Given the description of an element on the screen output the (x, y) to click on. 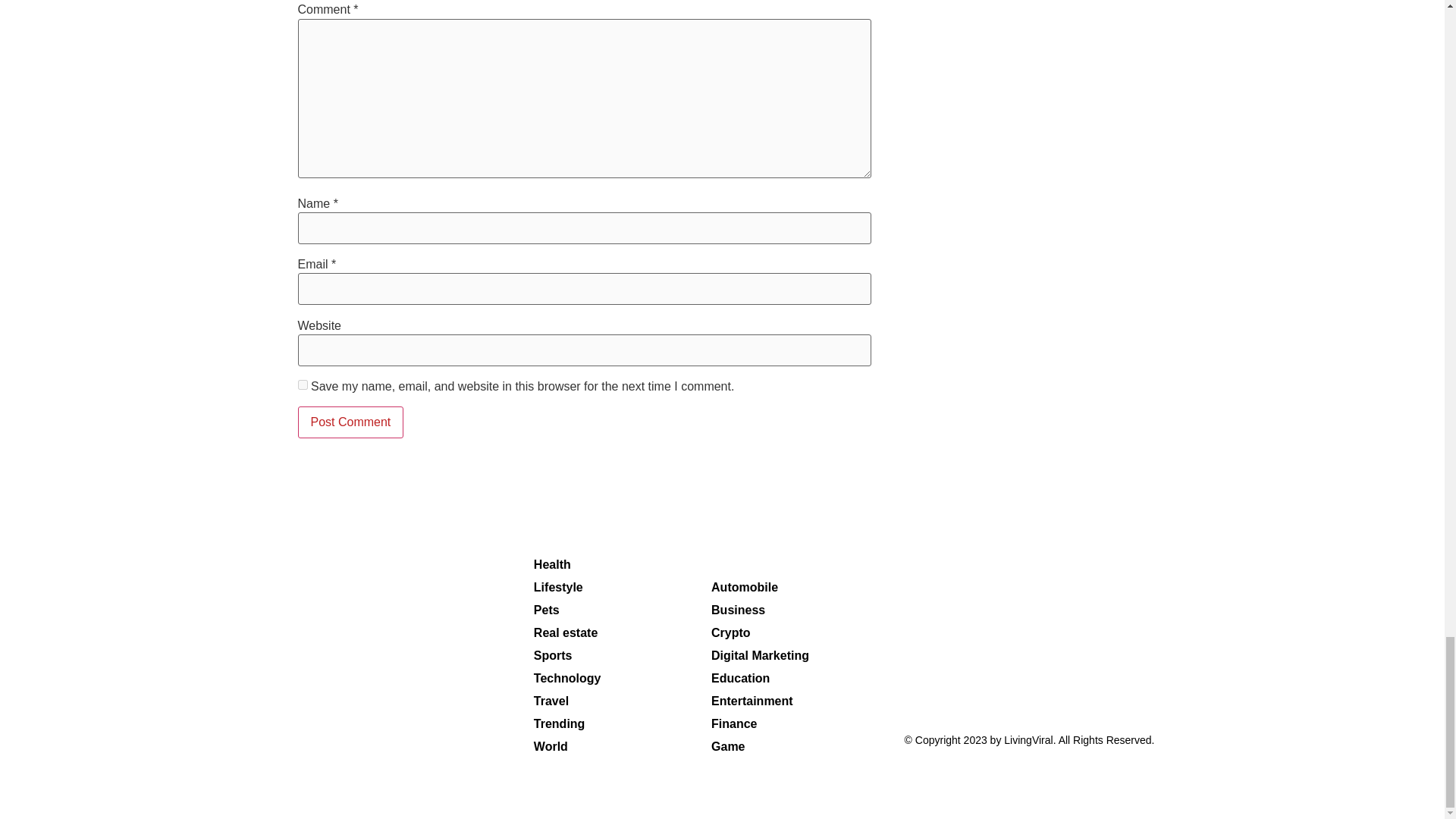
Post Comment (350, 422)
yes (302, 384)
Post Comment (350, 422)
